Given the description of an element on the screen output the (x, y) to click on. 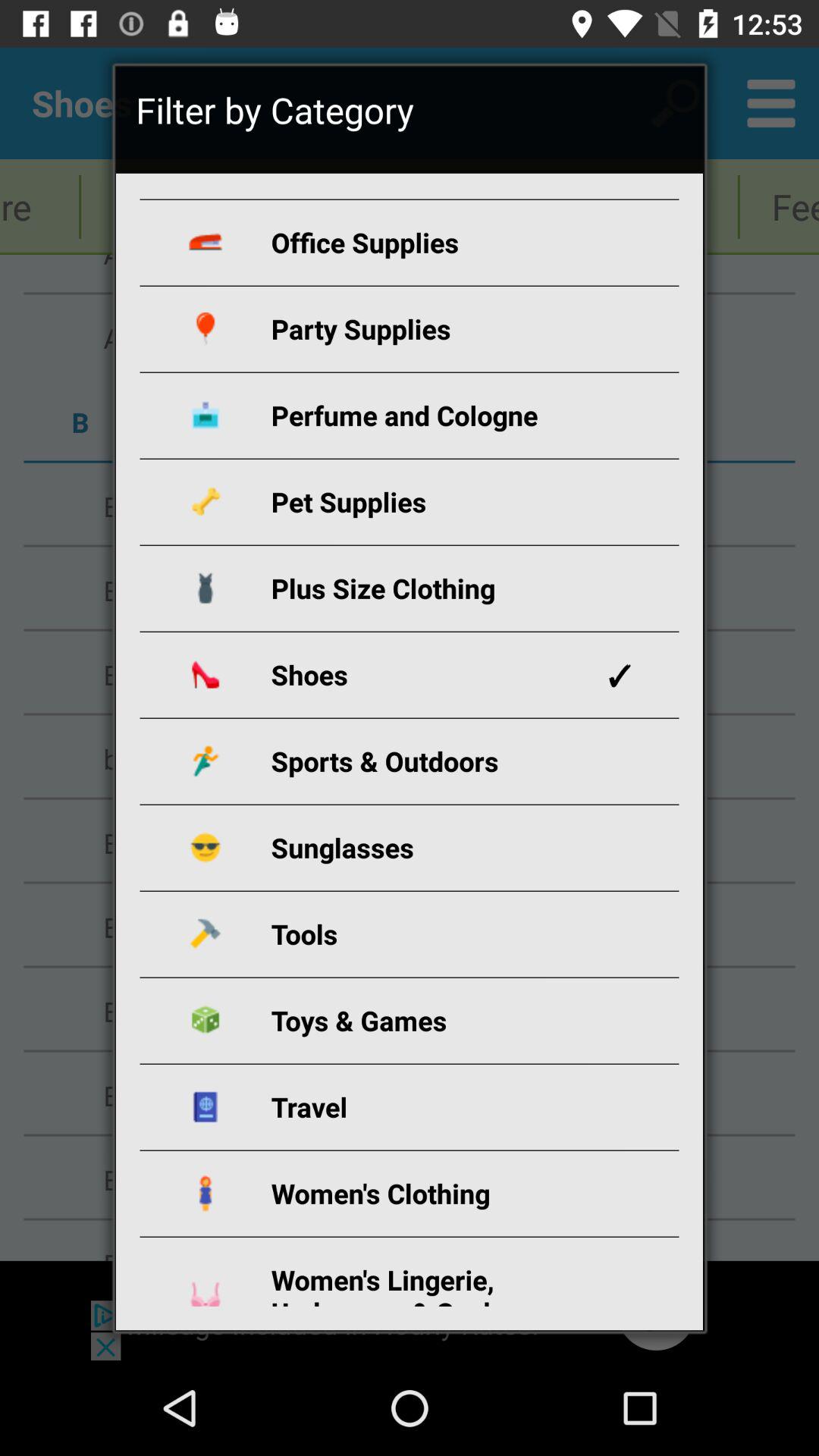
jump until office supplies (427, 242)
